Given the description of an element on the screen output the (x, y) to click on. 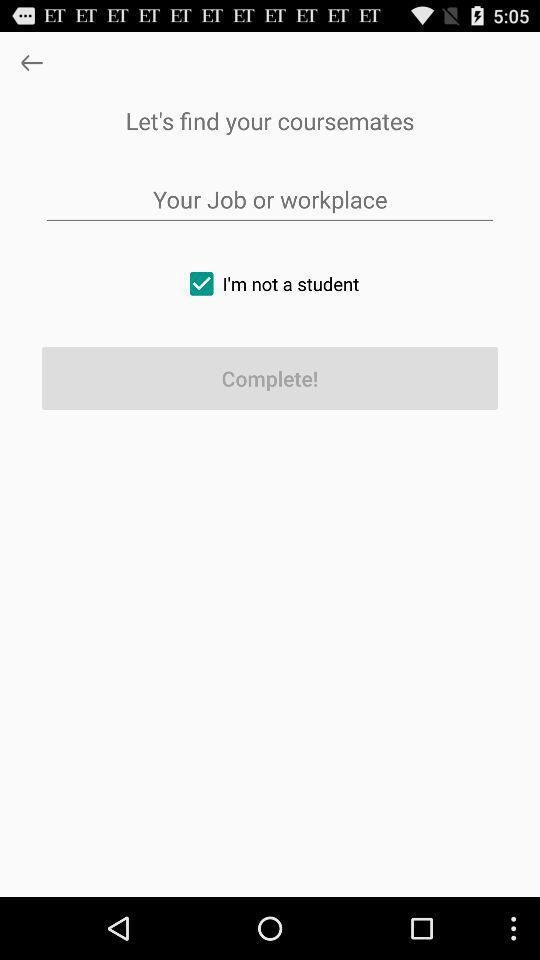
go back (31, 62)
